Given the description of an element on the screen output the (x, y) to click on. 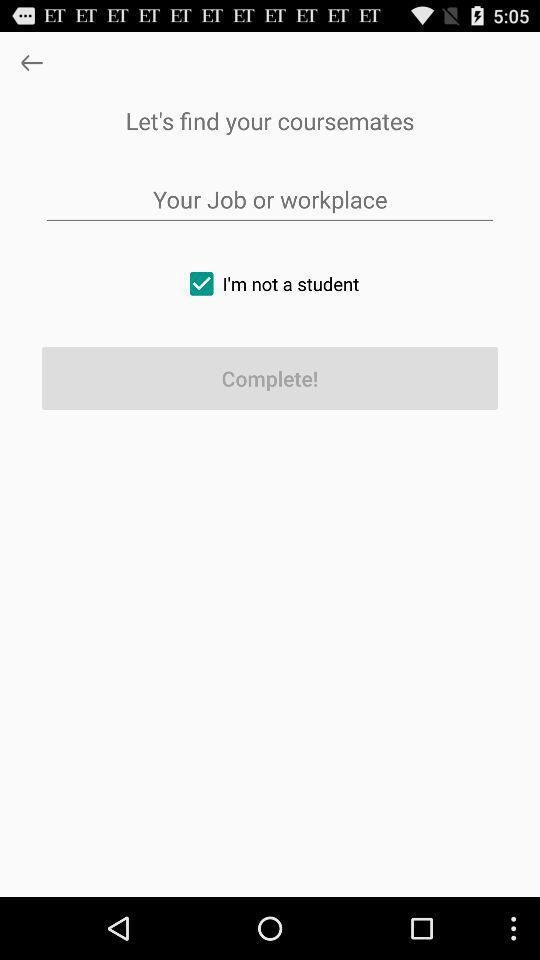
go back (31, 62)
